Given the description of an element on the screen output the (x, y) to click on. 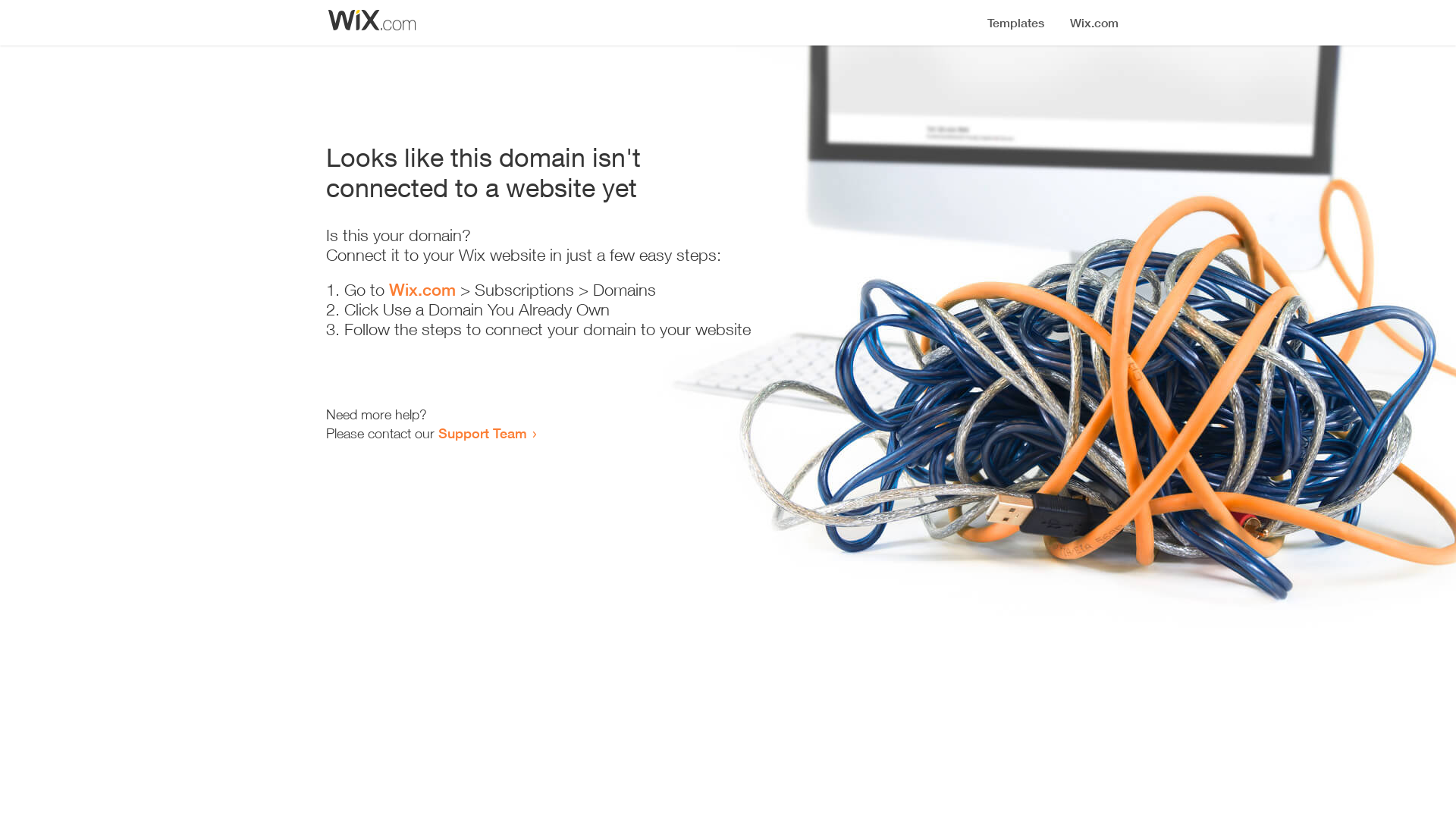
Support Team Element type: text (482, 432)
Wix.com Element type: text (422, 289)
